Given the description of an element on the screen output the (x, y) to click on. 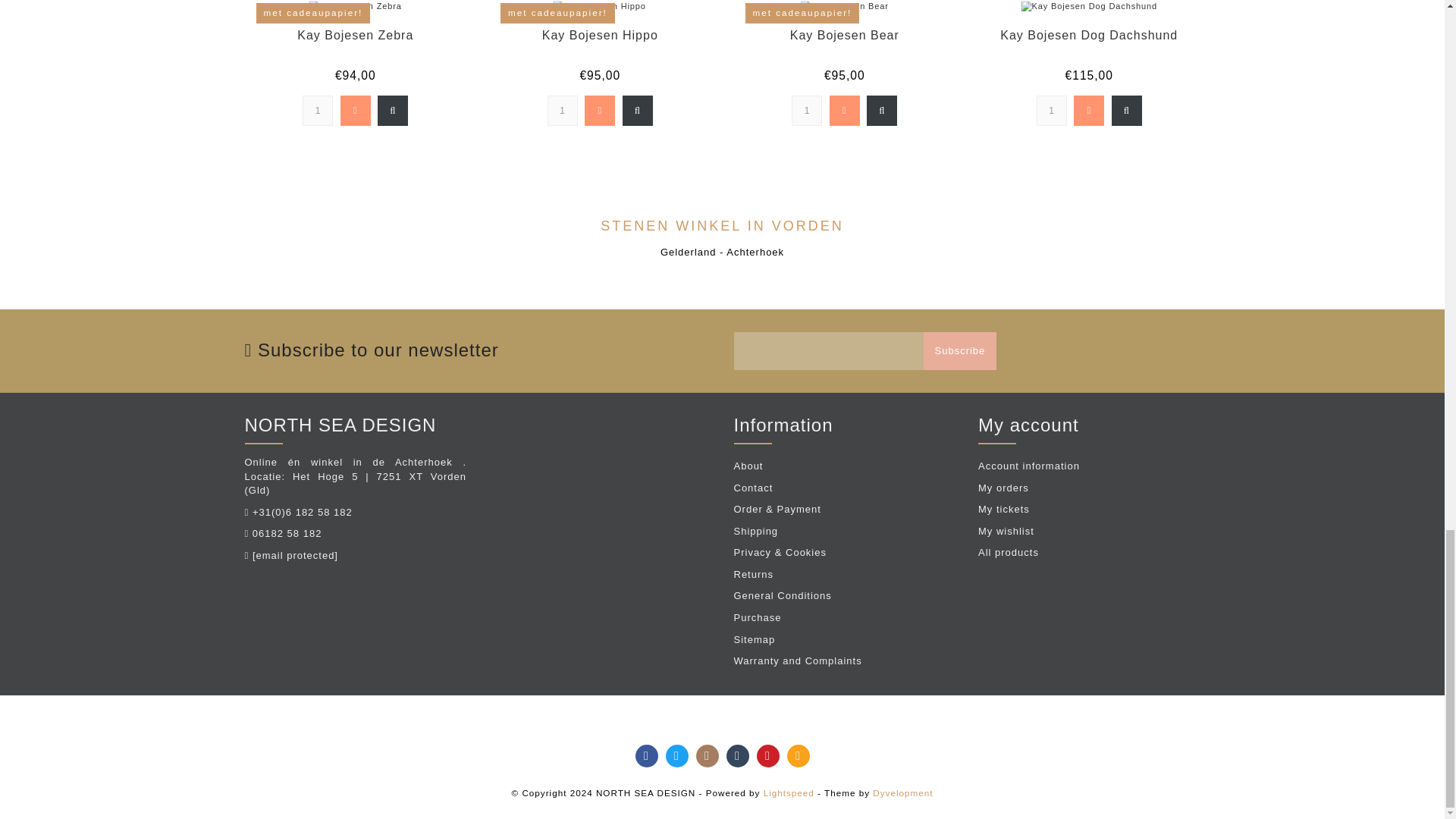
Kay Bojesen Bear (852, 8)
1 (317, 110)
Kay Bojesen Hippo (607, 8)
1 (1051, 110)
1 (562, 110)
Kay Bojesen Zebra (355, 34)
Kay Bojesen Hippo (599, 34)
Kay Bojesen Bear (844, 34)
1 (807, 110)
Kay Bojesen Zebra (363, 8)
